Given the description of an element on the screen output the (x, y) to click on. 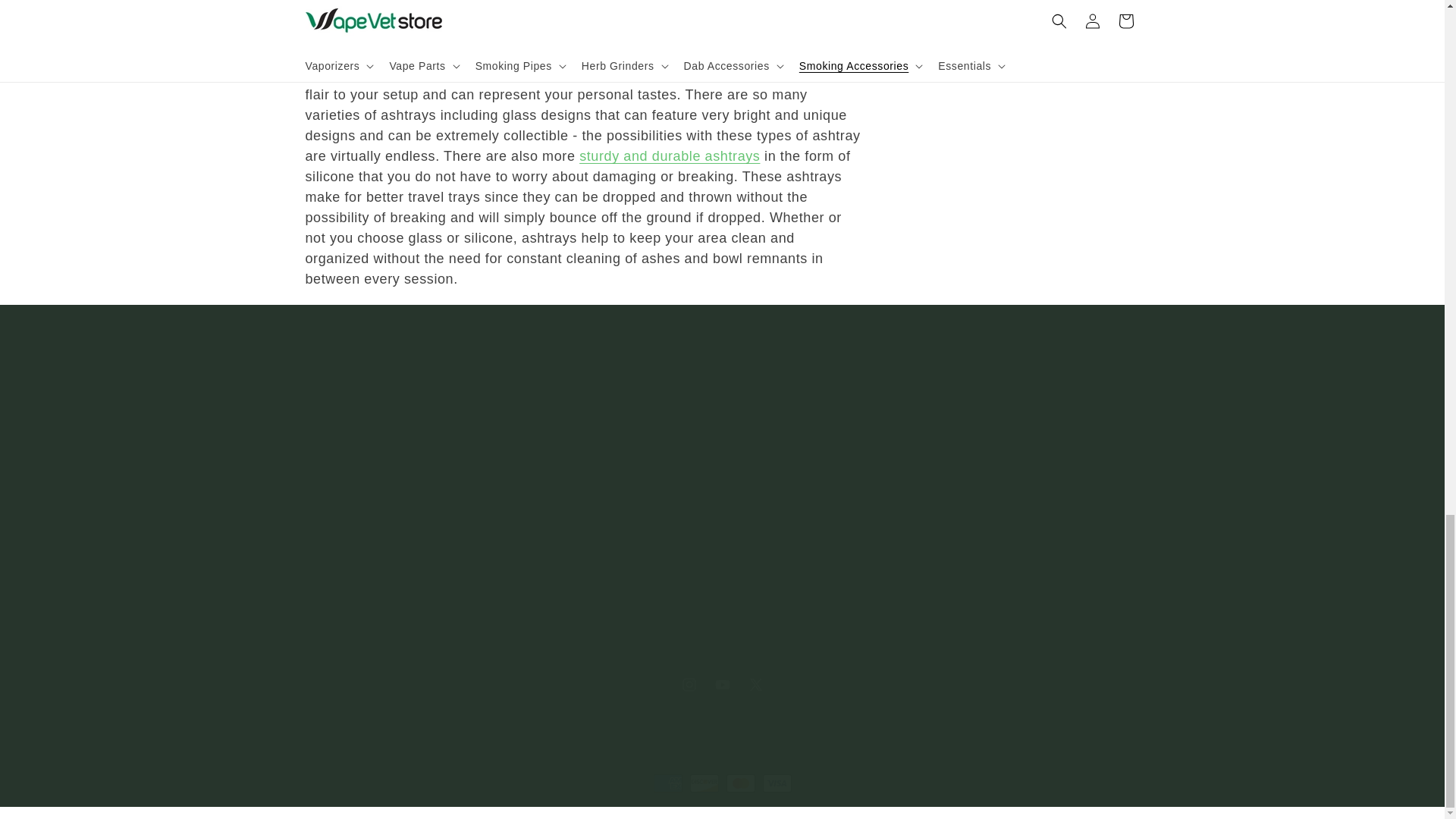
Silicone Ashtrays for Sale (669, 155)
10 Smoking Accessories and Pipes You Need to Buy (467, 53)
